Given the description of an element on the screen output the (x, y) to click on. 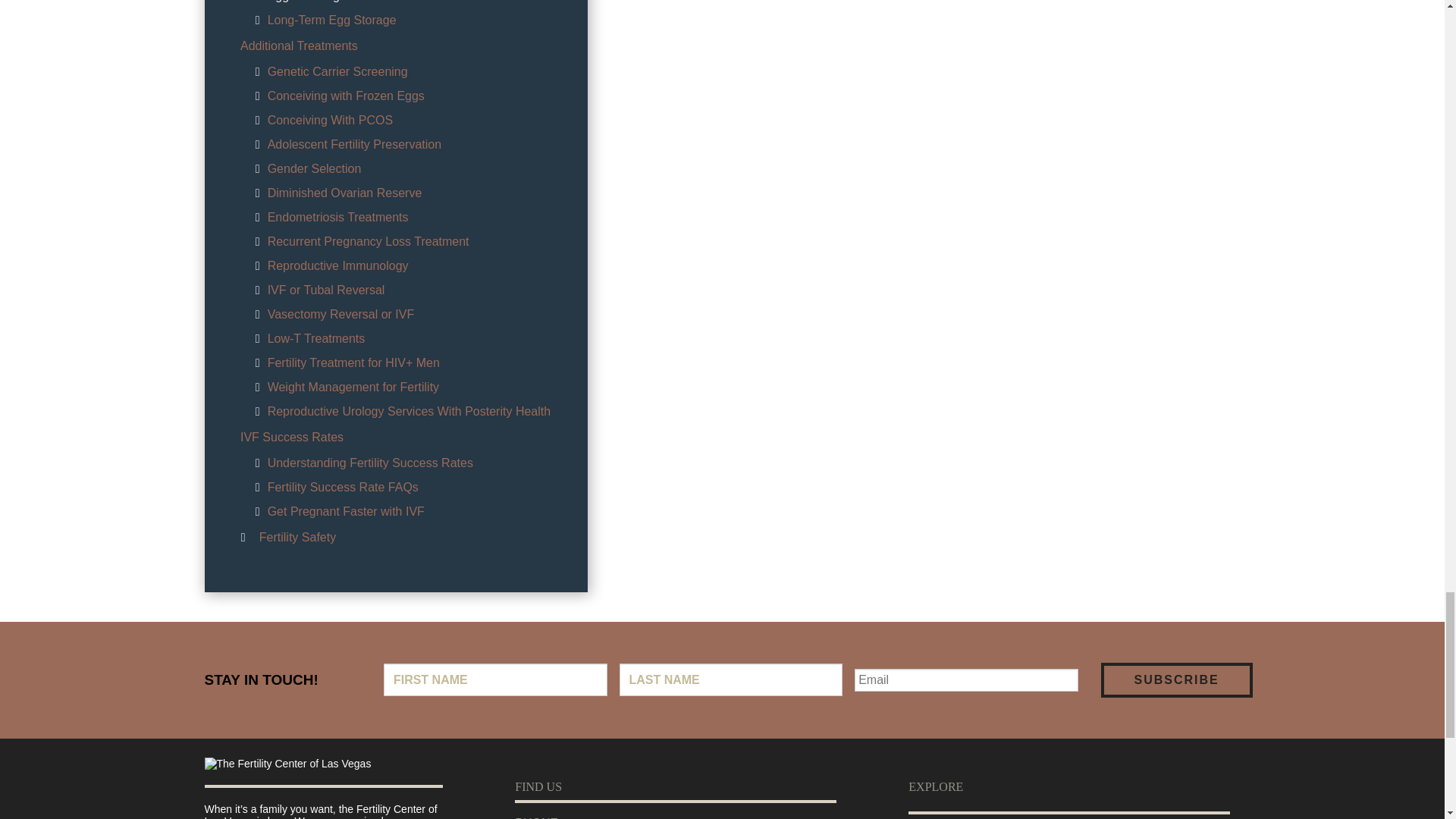
Subscribe (1176, 679)
